Given the description of an element on the screen output the (x, y) to click on. 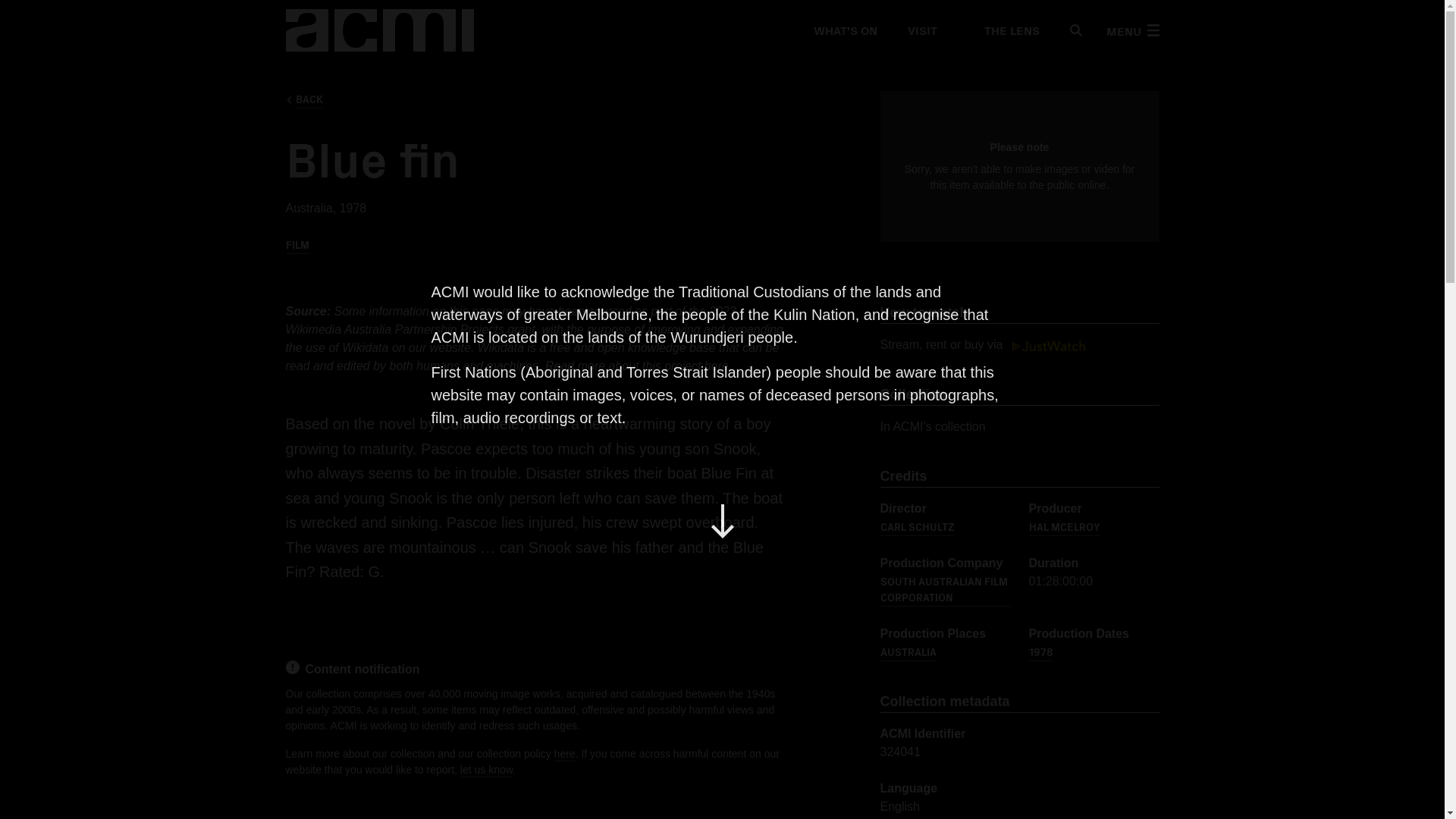
MENU (1131, 29)
VISIT (921, 30)
THE LENS (1003, 30)
WHAT'S ON (844, 30)
